Given the description of an element on the screen output the (x, y) to click on. 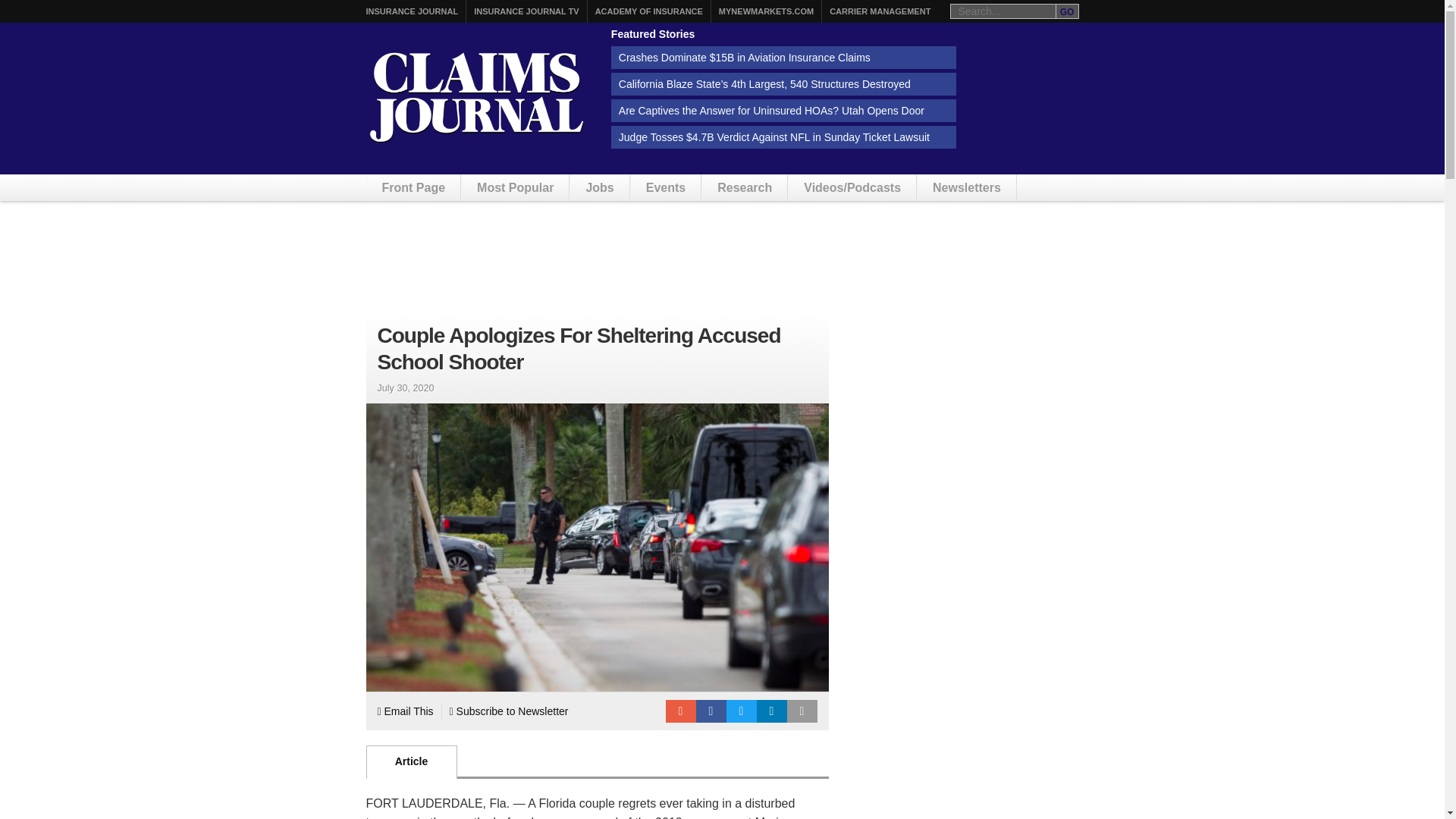
Email to a friend (680, 711)
Are Captives the Answer for Uninsured HOAs? Utah Opens Door (783, 110)
Research (744, 187)
Go (1066, 11)
ACADEMY OF INSURANCE (649, 11)
LinkedIn (772, 711)
Tweet (741, 711)
INSURANCE JOURNAL TV (526, 11)
Email to a friend (680, 711)
Go (1066, 11)
